Given the description of an element on the screen output the (x, y) to click on. 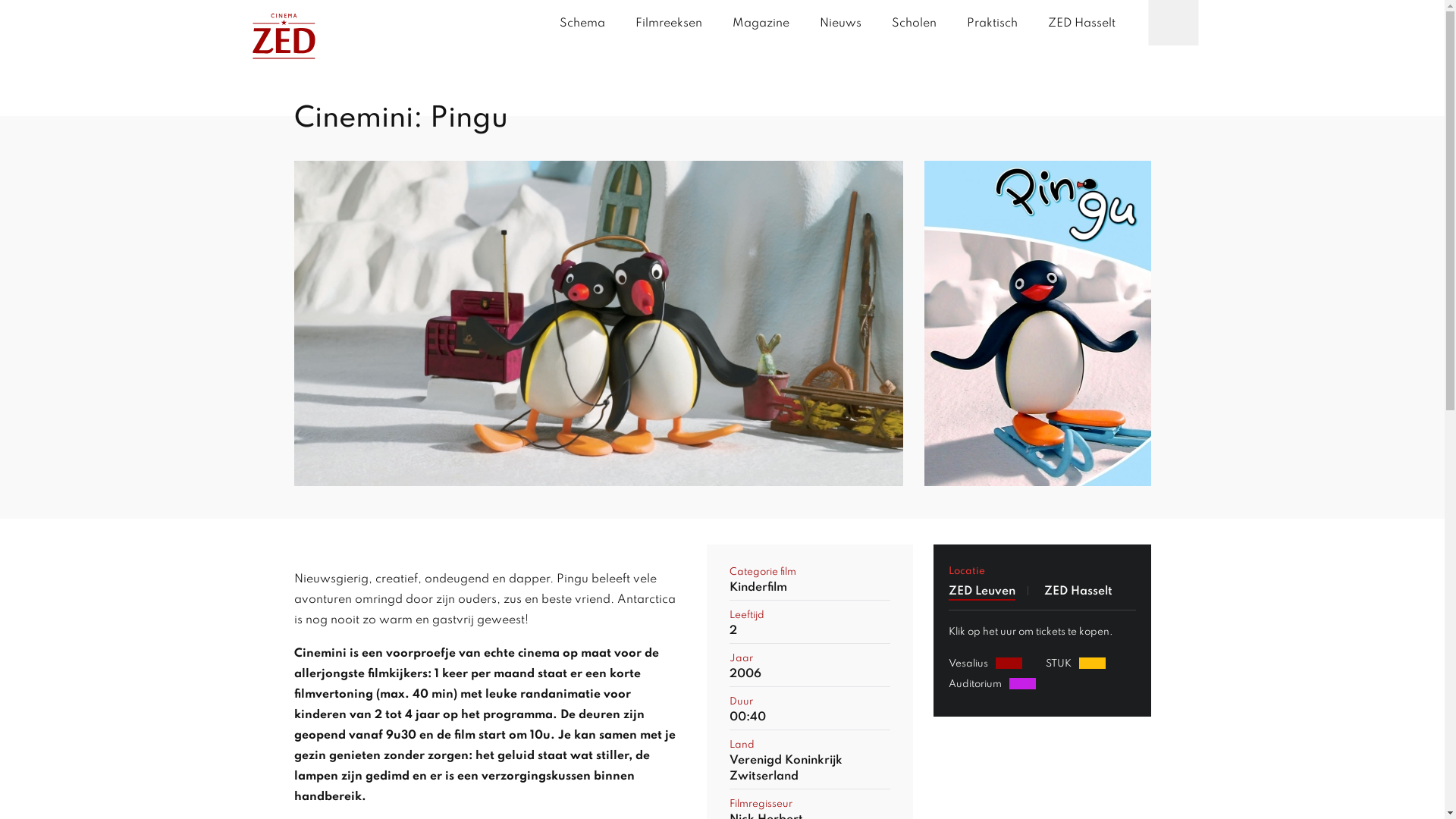
Magazine Element type: text (760, 23)
image/svg+xml Element type: text (283, 39)
ZED Hasselt Element type: text (1081, 23)
Nieuws Element type: text (840, 23)
Scholen Element type: text (913, 23)
Overslaan en naar de inhoud gaan Element type: text (0, 84)
ZED Leuven Element type: text (981, 591)
Praktisch Element type: text (991, 23)
ZED Hasselt Element type: text (1078, 591)
Schema Element type: text (582, 23)
Filmreeksen Element type: text (668, 23)
